Given the description of an element on the screen output the (x, y) to click on. 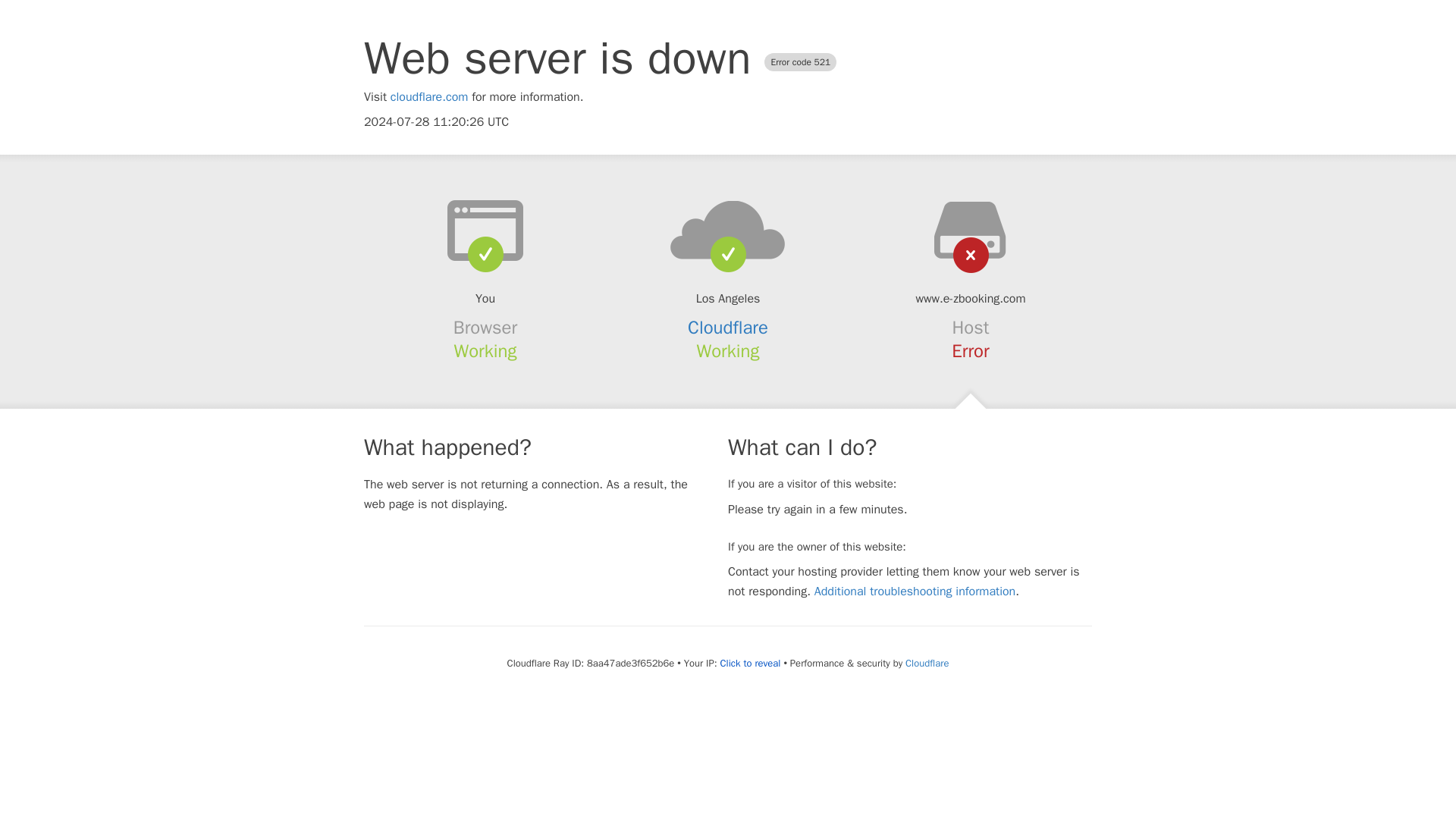
Click to reveal (750, 663)
Cloudflare (727, 327)
Additional troubleshooting information (913, 590)
cloudflare.com (429, 96)
Cloudflare (927, 662)
